Given the description of an element on the screen output the (x, y) to click on. 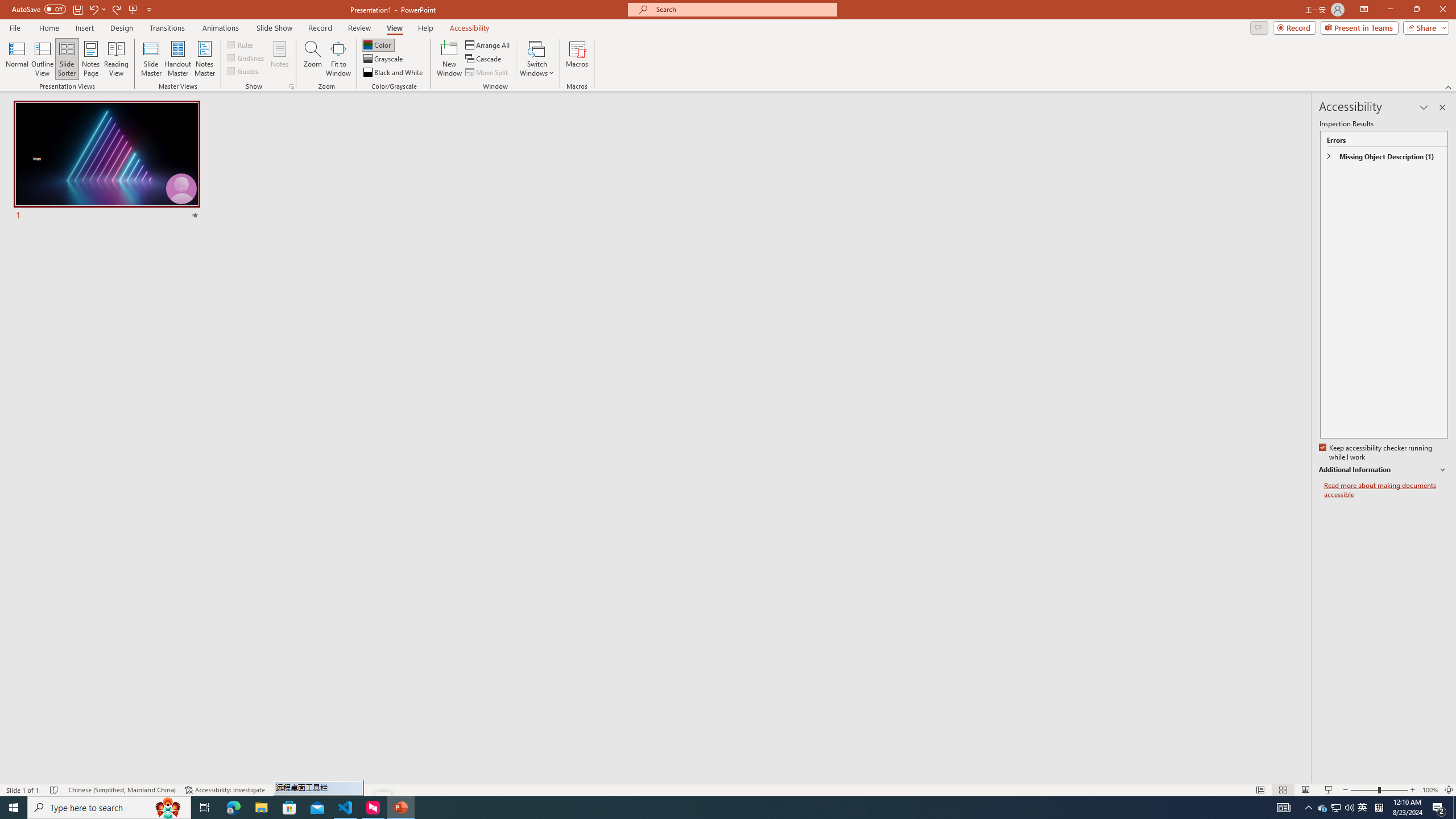
Keep accessibility checker running while I work (1376, 452)
Color (377, 44)
